Given the description of an element on the screen output the (x, y) to click on. 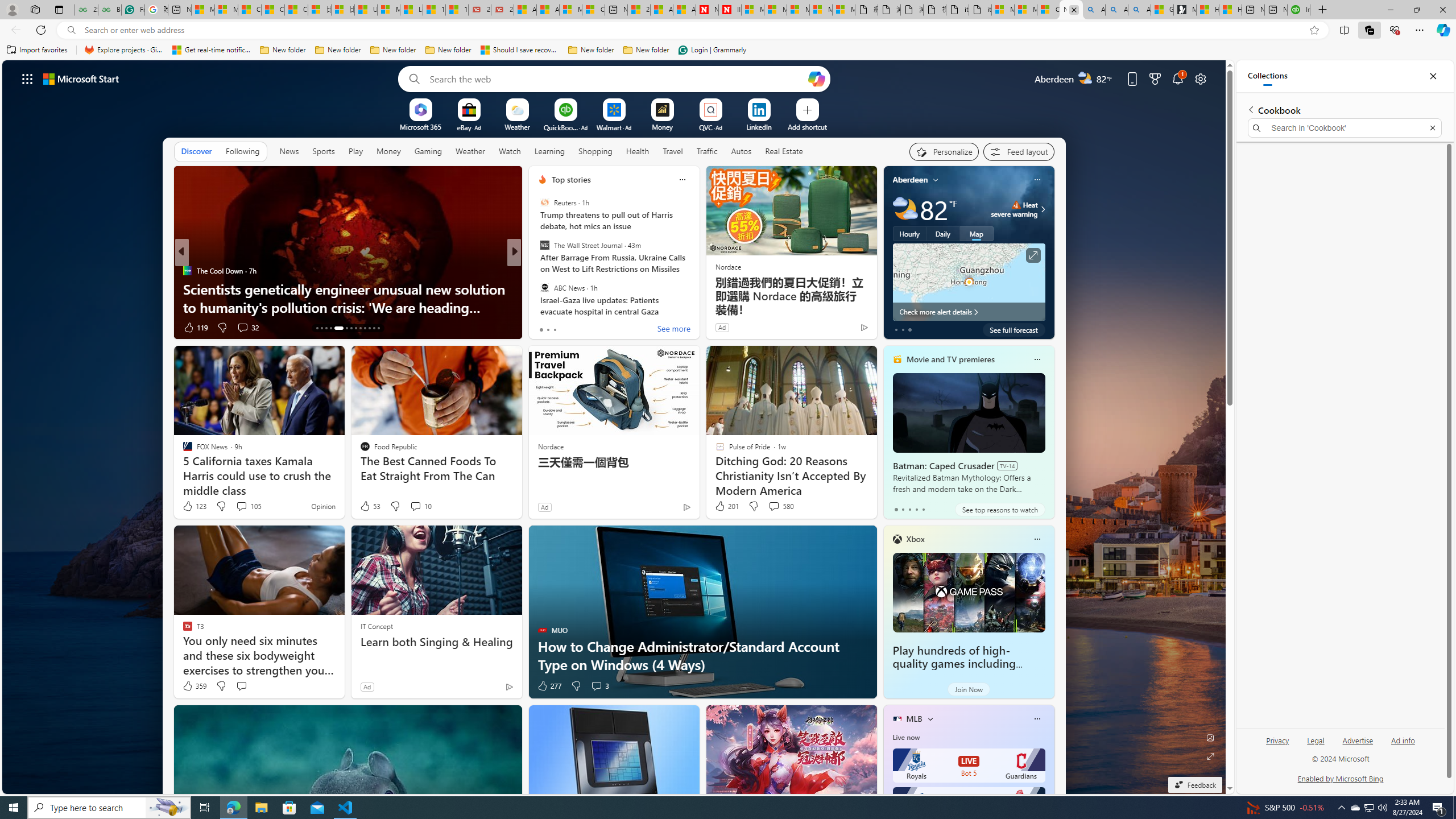
AutomationID: tab-25 (378, 328)
tab-2 (908, 509)
Class: weather-arrow-glyph (1043, 208)
Search in 'Cookbook' (1345, 127)
New folder (646, 49)
View comments 15 Comment (597, 327)
Add a site (807, 126)
